Given the description of an element on the screen output the (x, y) to click on. 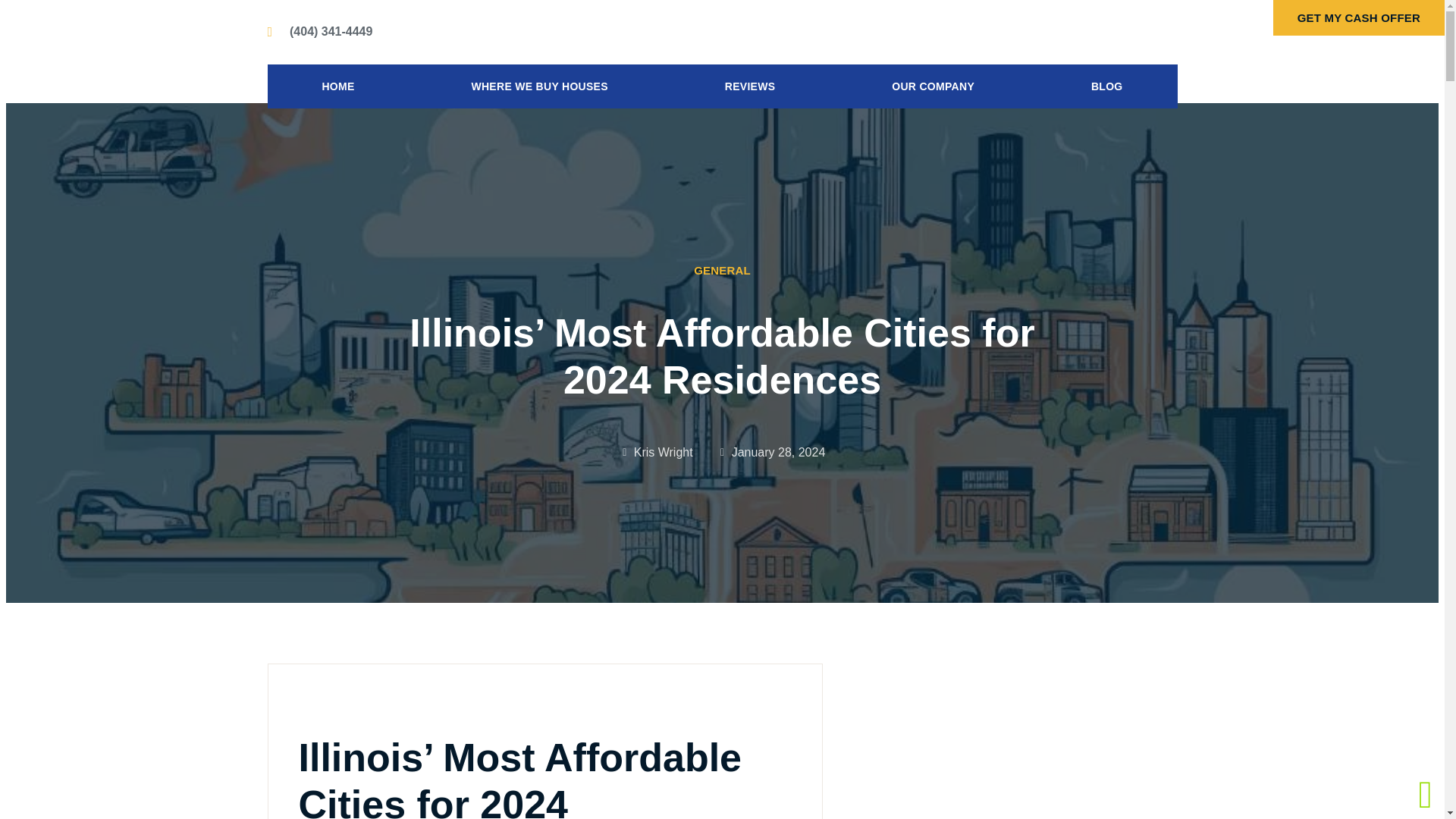
HOME (337, 86)
GENERAL (722, 269)
OUR COMPANY (933, 86)
WHERE WE BUY HOUSES (539, 86)
Kris Wright (656, 452)
REVIEWS (749, 86)
BLOG (1106, 86)
January 28, 2024 (771, 452)
